Given the description of an element on the screen output the (x, y) to click on. 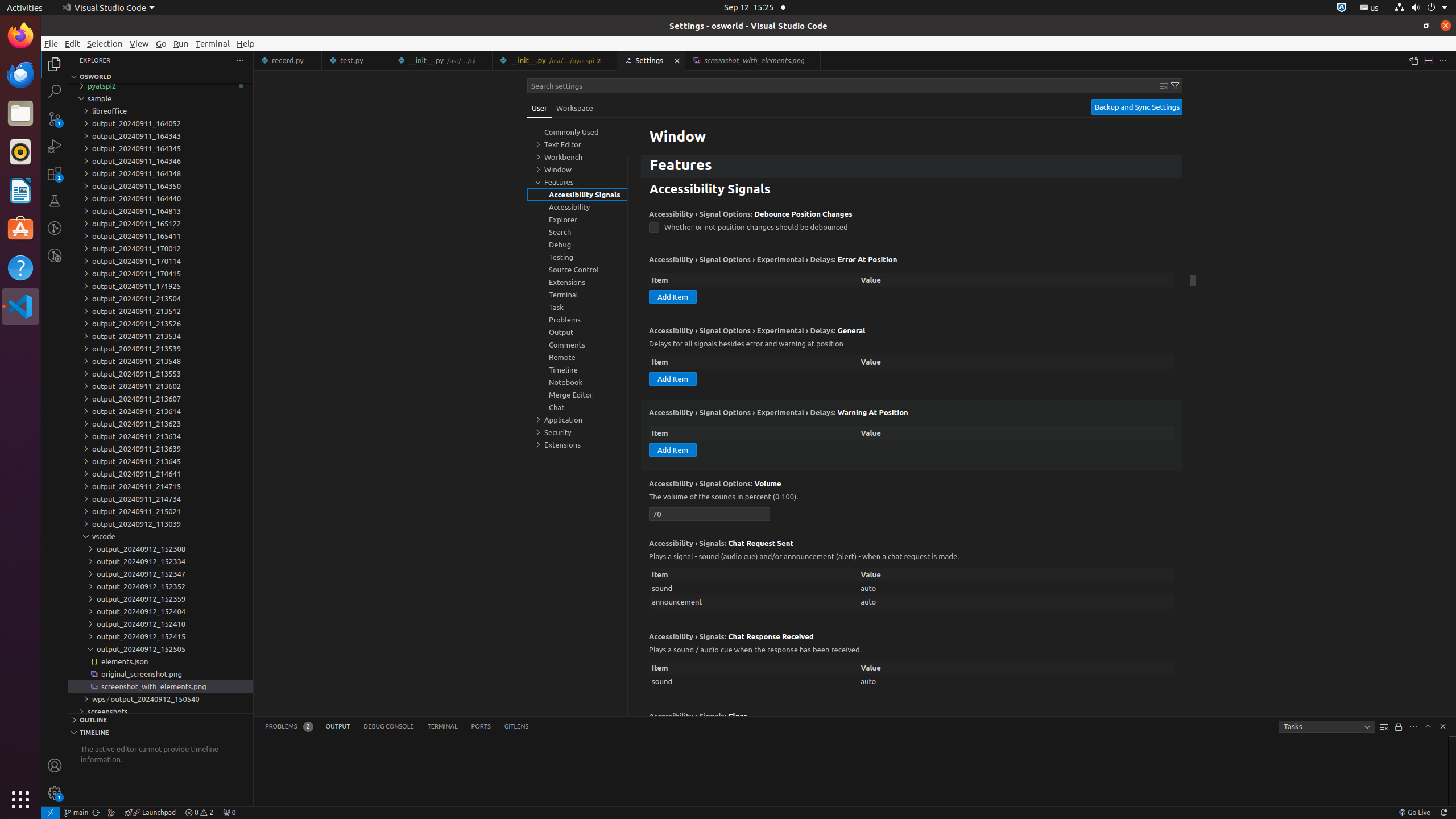
Accessibility › Signal Options › Experimental › Delays General. Delays for all signals besides error and warning at position  Element type: tree-item (911, 359)
original_screenshot.png Element type: tree-item (160, 673)
Outline Section Element type: push-button (160, 719)
Warnings: 2 Element type: push-button (199, 812)
output_20240911_164440 Element type: tree-item (160, 198)
